Given the description of an element on the screen output the (x, y) to click on. 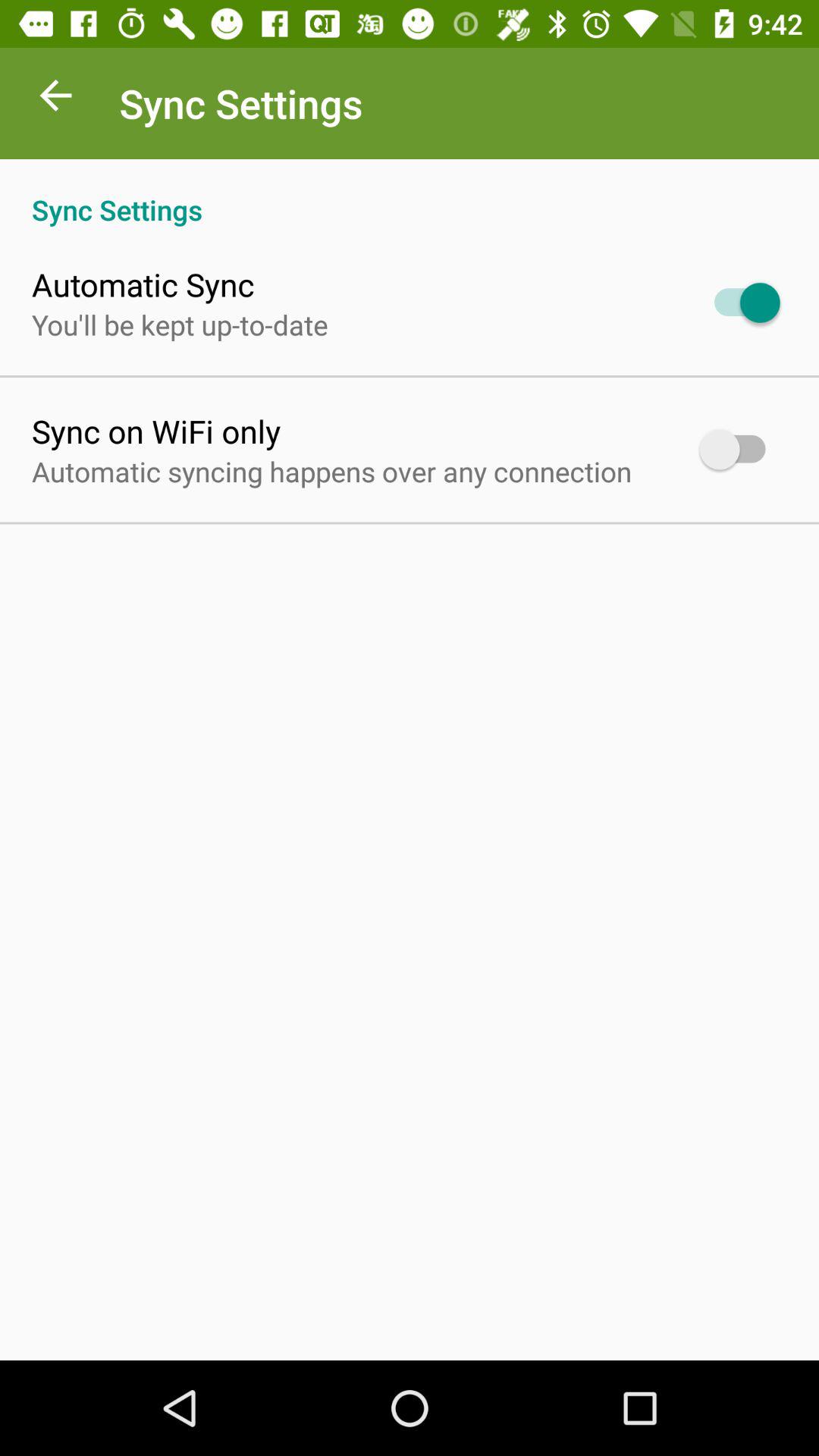
press the item below sync settings icon (142, 283)
